Given the description of an element on the screen output the (x, y) to click on. 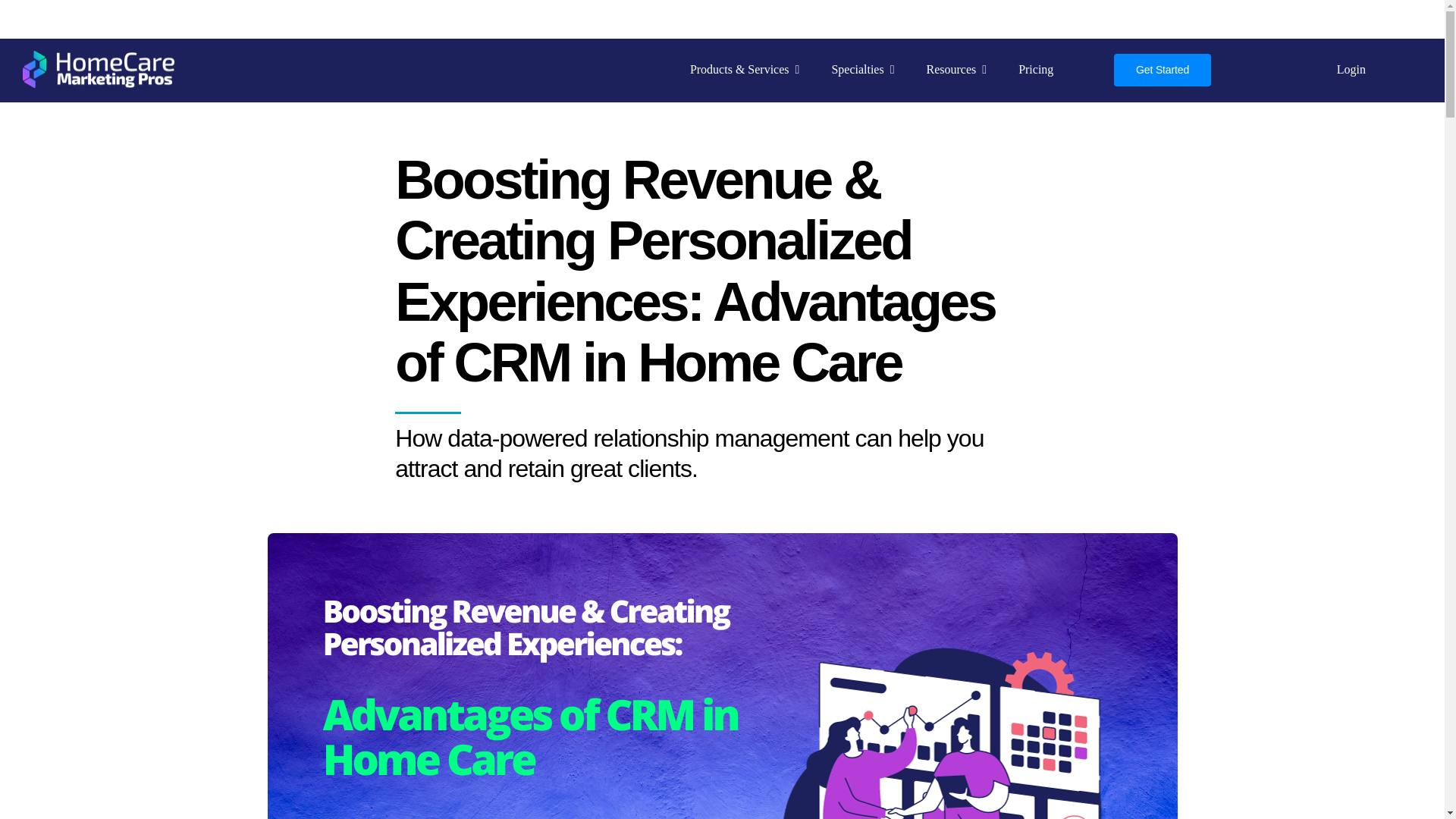
Pricing (1035, 70)
Get Started (1162, 70)
Resources (956, 70)
Login (1351, 70)
Specialties (862, 70)
